Given the description of an element on the screen output the (x, y) to click on. 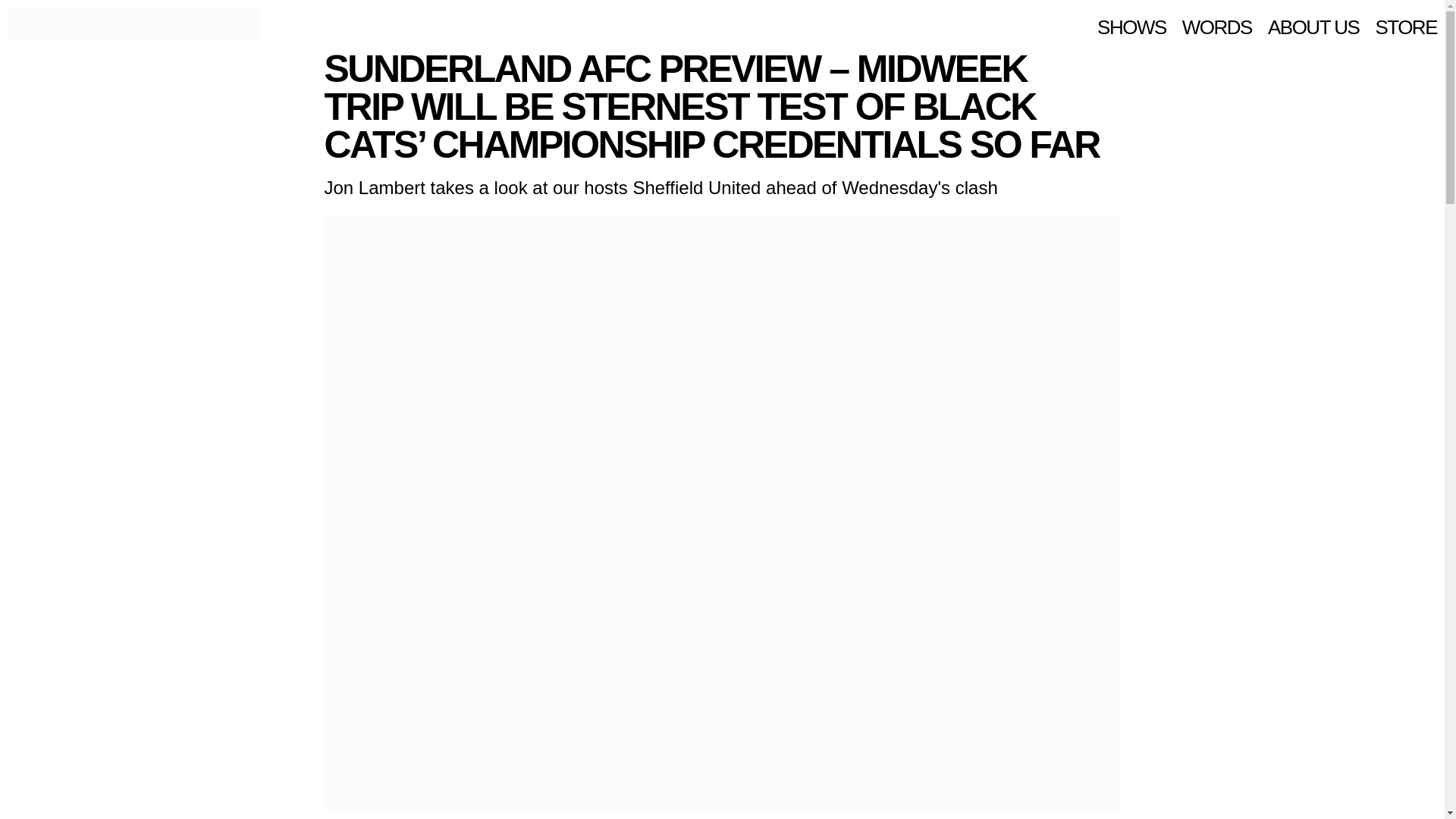
SHOWS (1131, 27)
ABOUT US (1313, 27)
STORE (1405, 27)
WORDS (1217, 27)
